Given the description of an element on the screen output the (x, y) to click on. 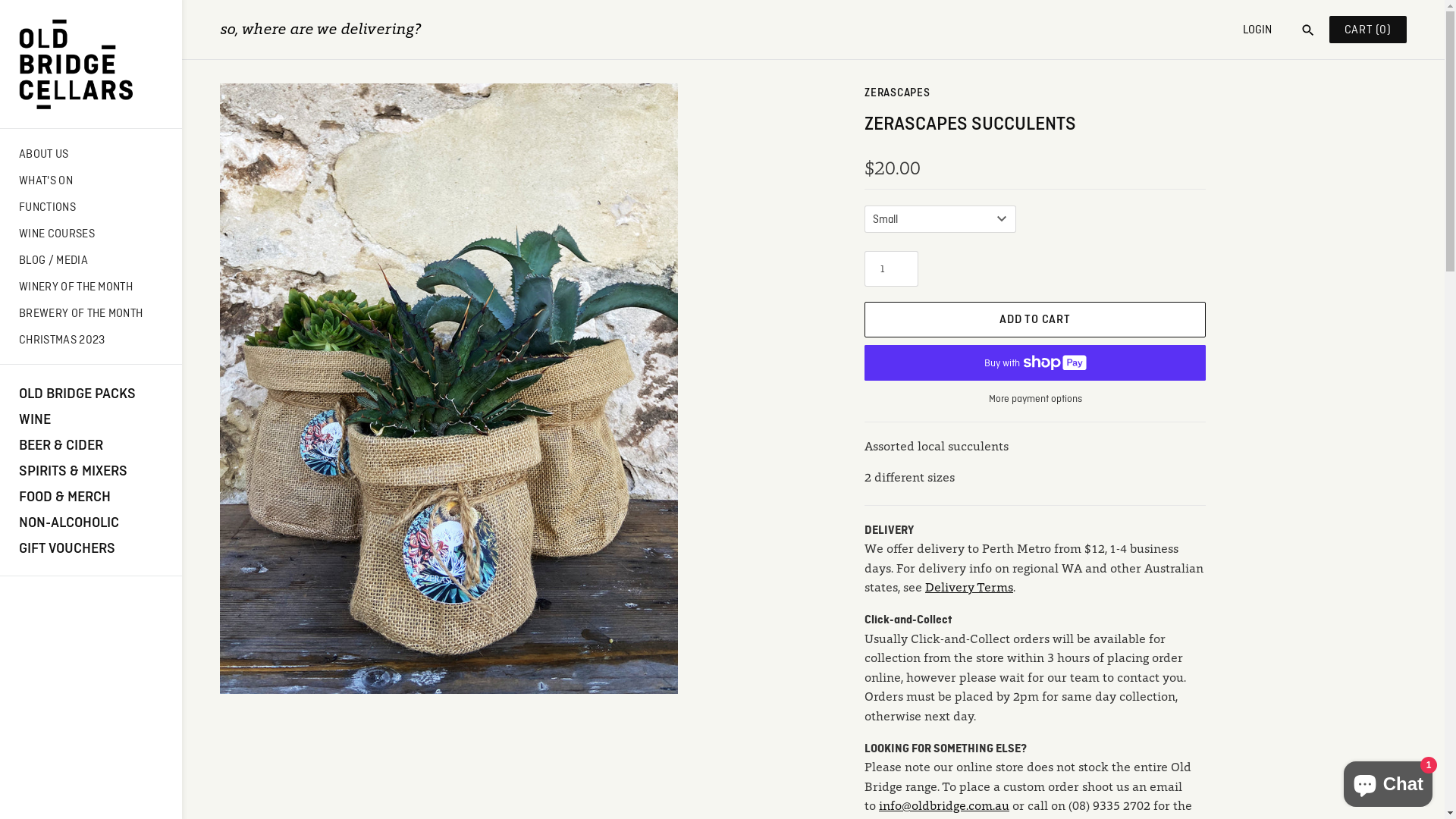
Delivery Terms Element type: text (969, 588)
WINE COURSES Element type: text (91, 232)
Shopify online store chat Element type: hover (1388, 780)
so, where are we delivering? Element type: text (319, 29)
BEER & CIDER Element type: text (90, 444)
BLOG / MEDIA Element type: text (91, 259)
OLD BRIDGE PACKS Element type: text (90, 392)
FOOD & MERCH Element type: text (90, 495)
WHAT'S ON Element type: text (91, 179)
More payment options Element type: text (1034, 398)
WINE Element type: text (90, 418)
Old Bridge Cellars Element type: hover (91, 63)
SPIRITS & MIXERS Element type: text (90, 470)
ZERASCAPES Element type: text (897, 92)
BREWERY OF THE MONTH Element type: text (91, 312)
WINERY OF THE MONTH Element type: text (91, 286)
ABOUT US Element type: text (91, 153)
GIFT VOUCHERS Element type: text (90, 547)
NON-ALCOHOLIC Element type: text (90, 521)
info@oldbridge.com.au Element type: text (943, 806)
FUNCTIONS Element type: text (91, 206)
ADD TO CART Element type: text (1034, 319)
CART (0) Element type: text (1367, 29)
LOGIN Element type: text (1256, 29)
CHRISTMAS 2023 Element type: text (91, 339)
